Given the description of an element on the screen output the (x, y) to click on. 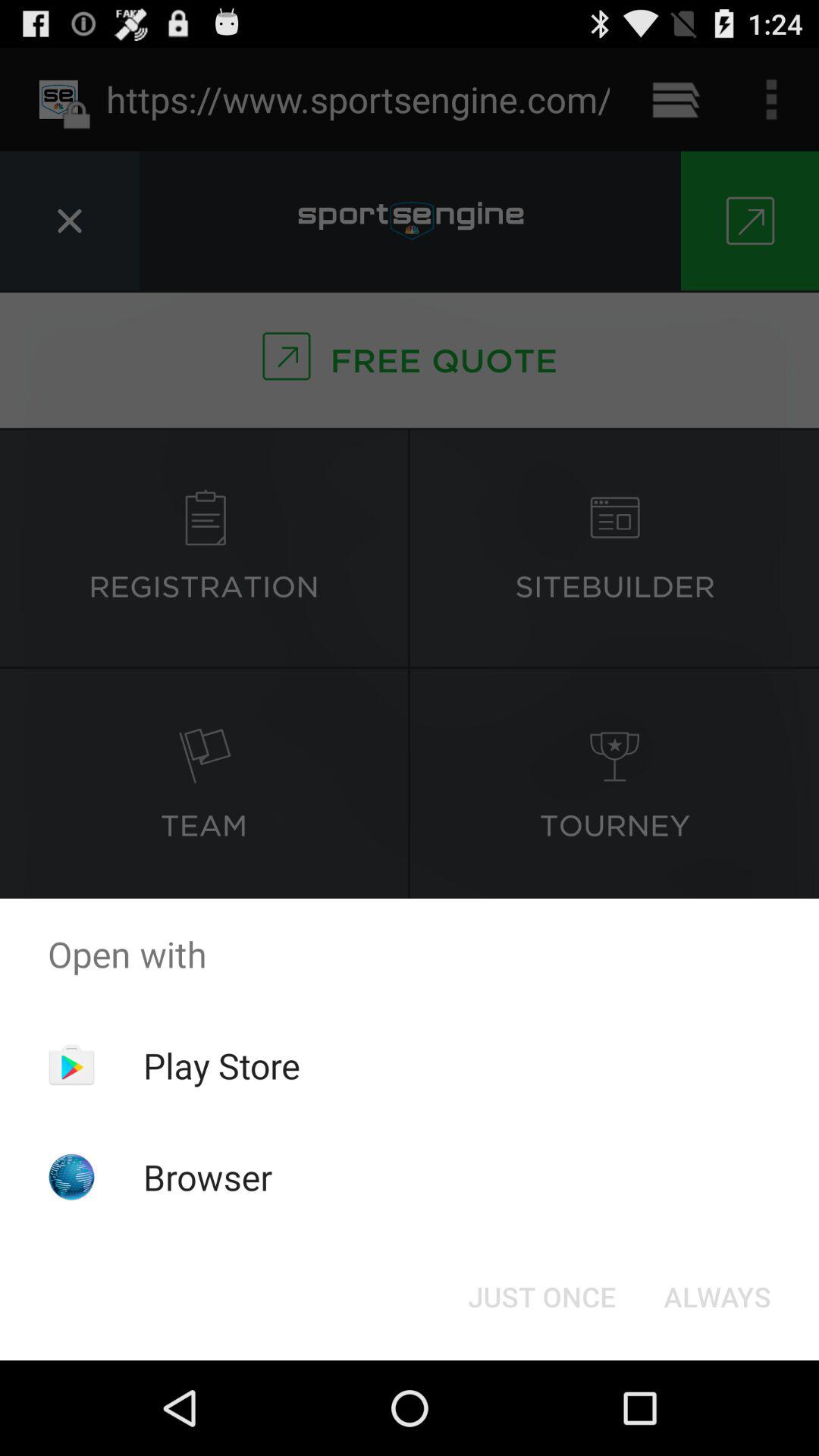
swipe until the browser item (207, 1176)
